Given the description of an element on the screen output the (x, y) to click on. 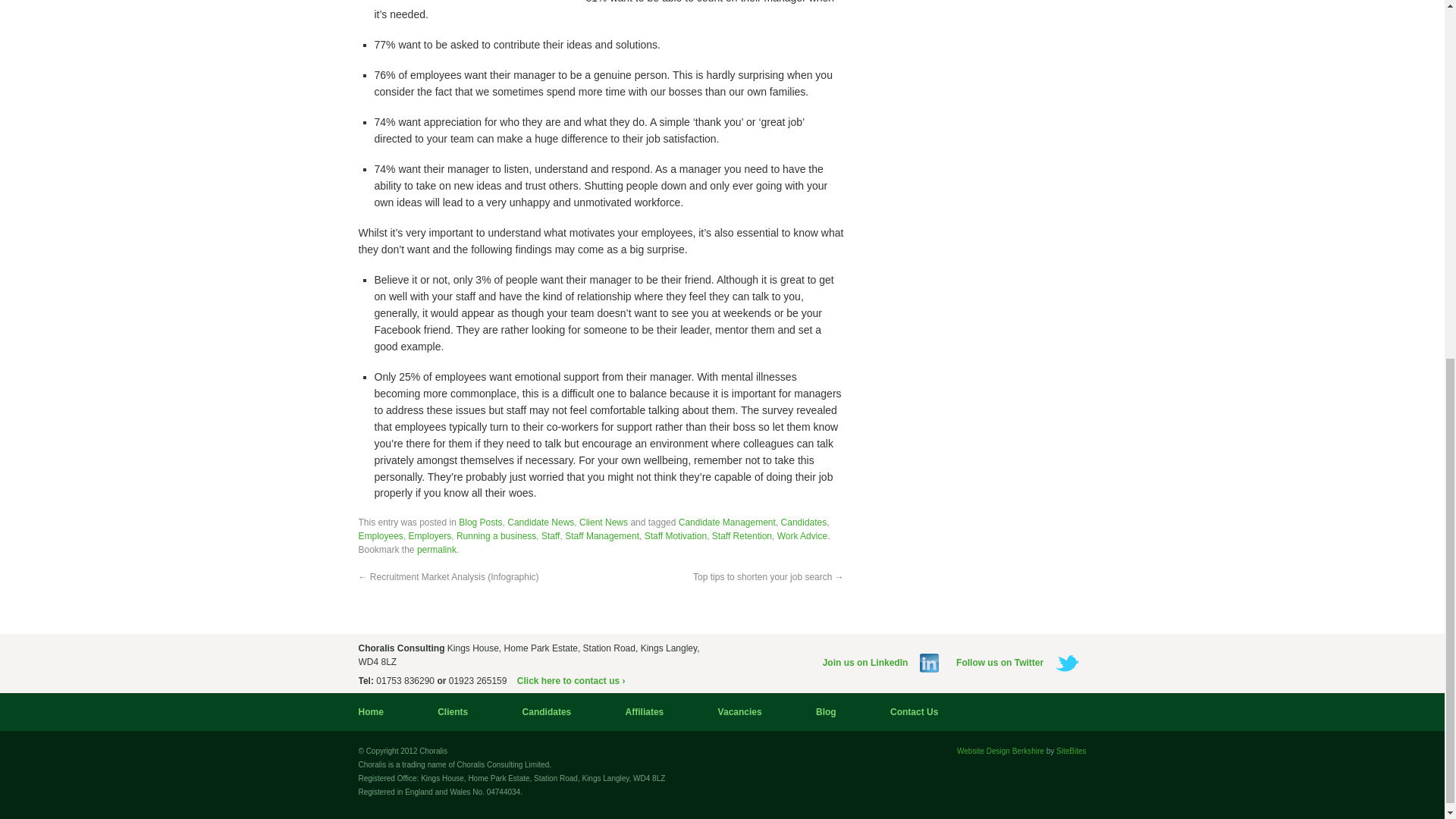
Client News (603, 521)
Candidate News (539, 521)
Blog Posts (480, 521)
